Given the description of an element on the screen output the (x, y) to click on. 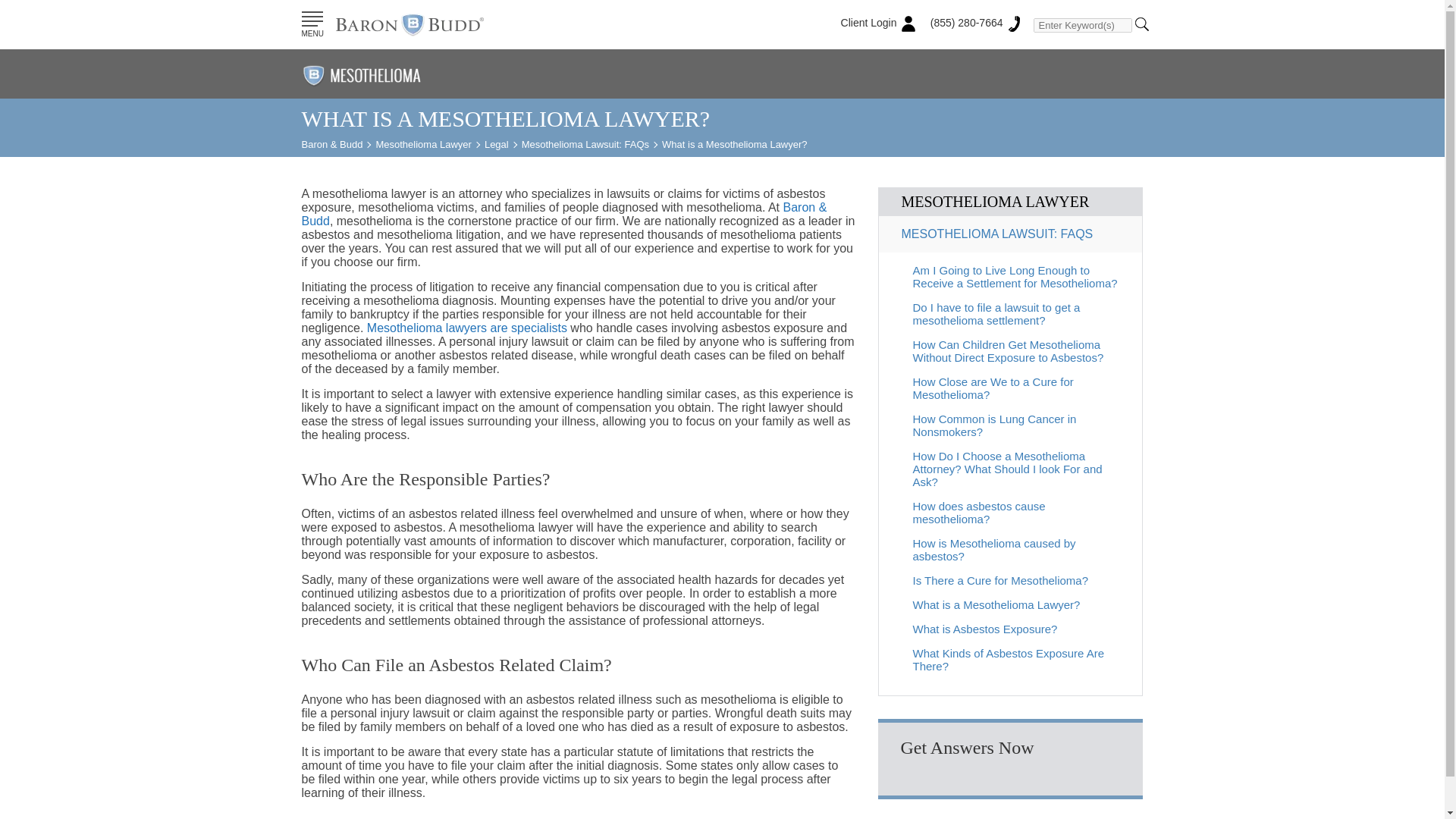
Go to Mesothelioma Lawsuit: FAQs. (585, 143)
Go to Mesothelioma Lawyer. (422, 143)
Go to . (331, 143)
Go to Legal. (496, 143)
